Given the description of an element on the screen output the (x, y) to click on. 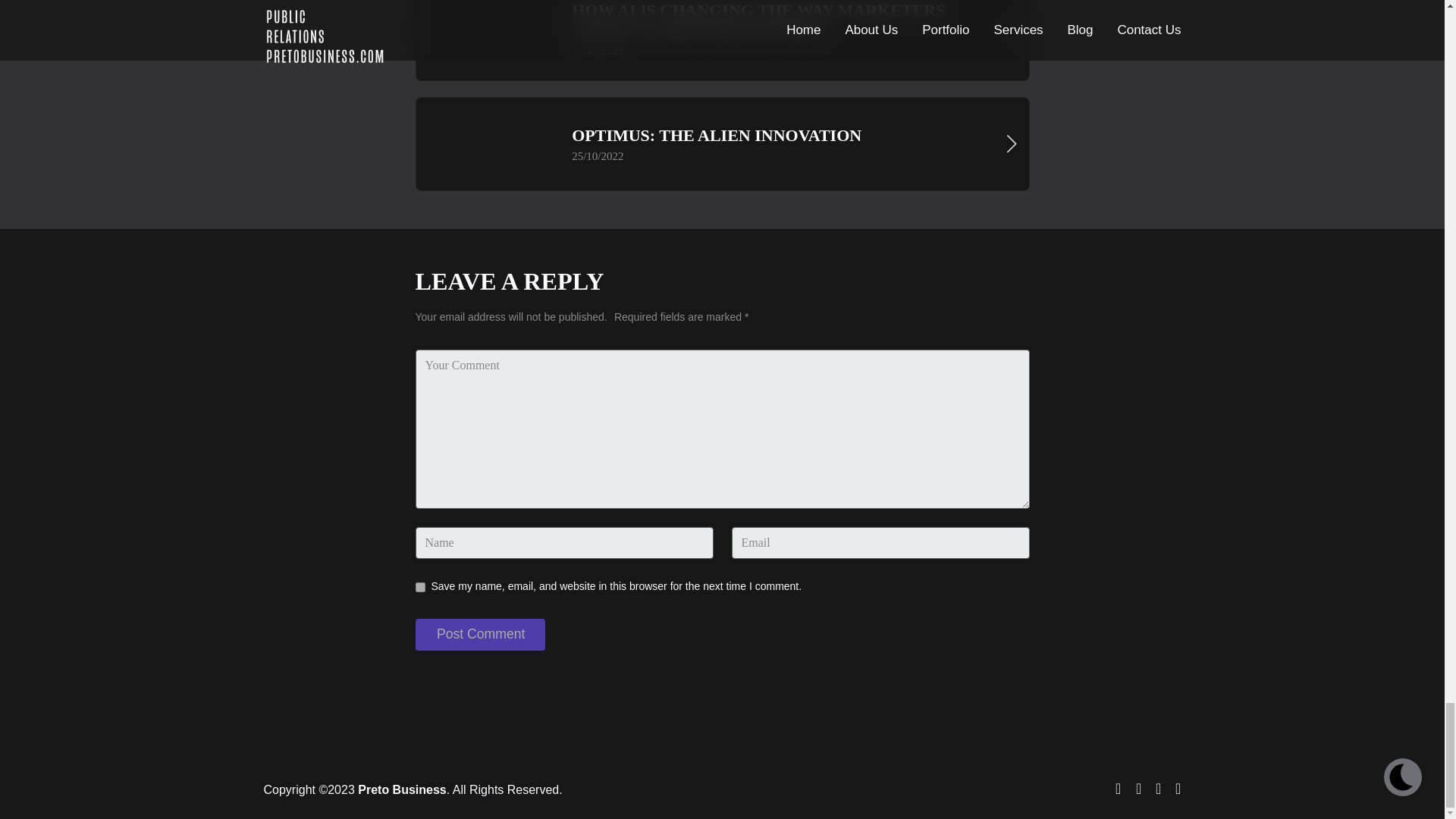
Post Comment (479, 634)
yes (419, 587)
Optimus: The Alien Innovation (720, 143)
